Given the description of an element on the screen output the (x, y) to click on. 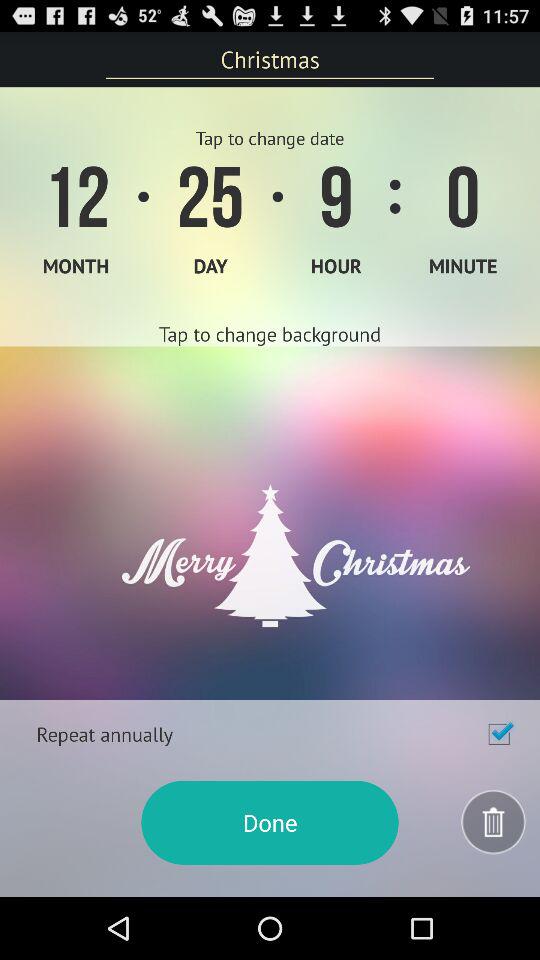
delete option (493, 822)
